Given the description of an element on the screen output the (x, y) to click on. 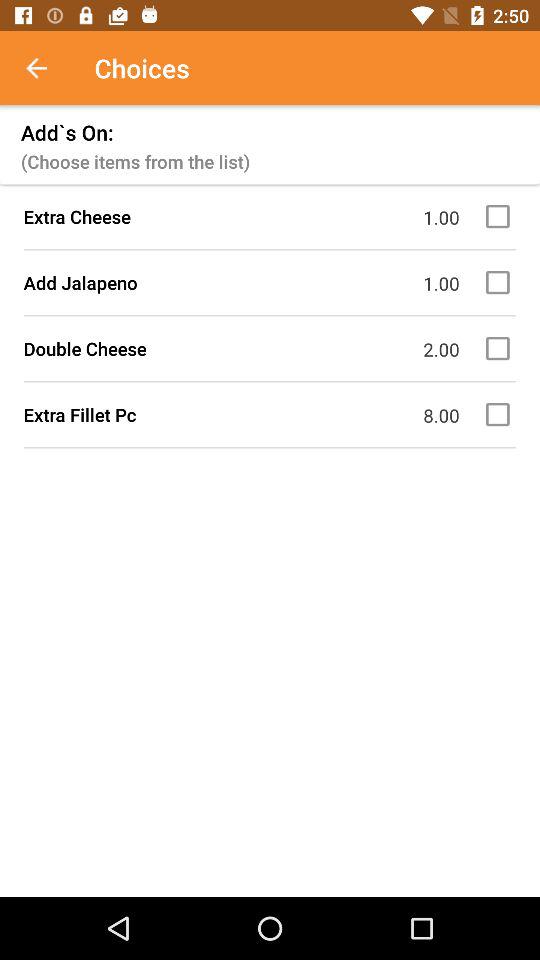
go back (47, 68)
